Given the description of an element on the screen output the (x, y) to click on. 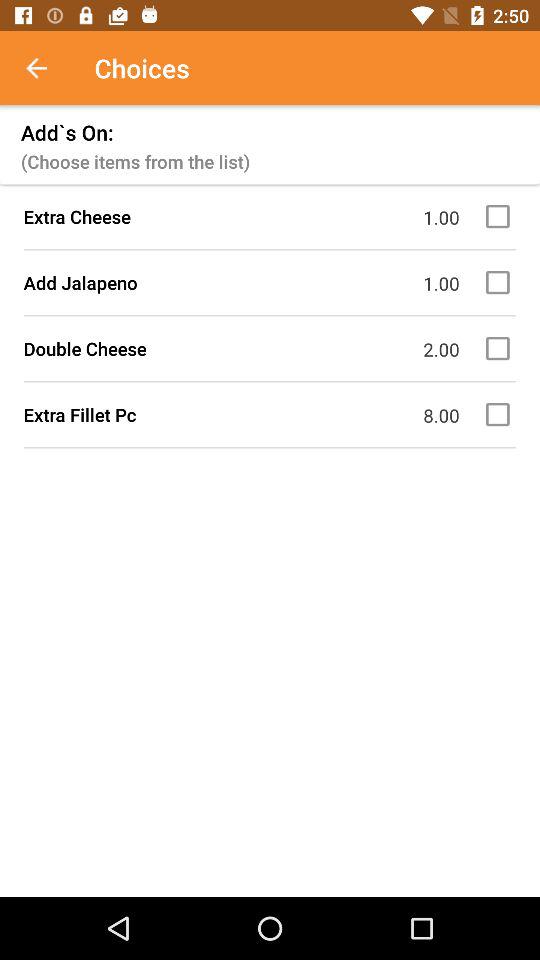
go back (47, 68)
